Given the description of an element on the screen output the (x, y) to click on. 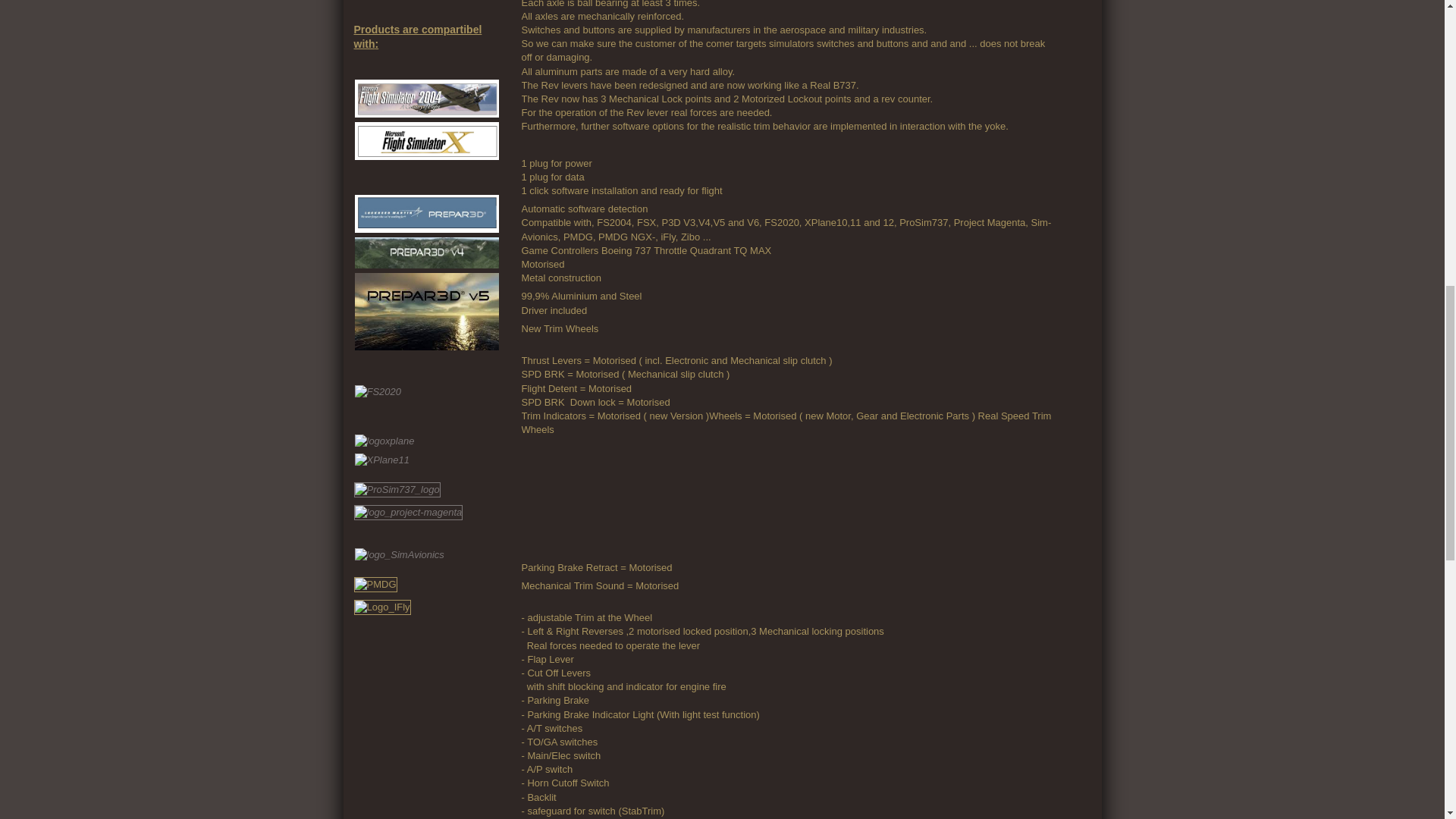
FS2020 (378, 391)
logoxplane (384, 440)
App (597, 496)
logoprepar3d (427, 213)
XPlane11 (382, 459)
